Given the description of an element on the screen output the (x, y) to click on. 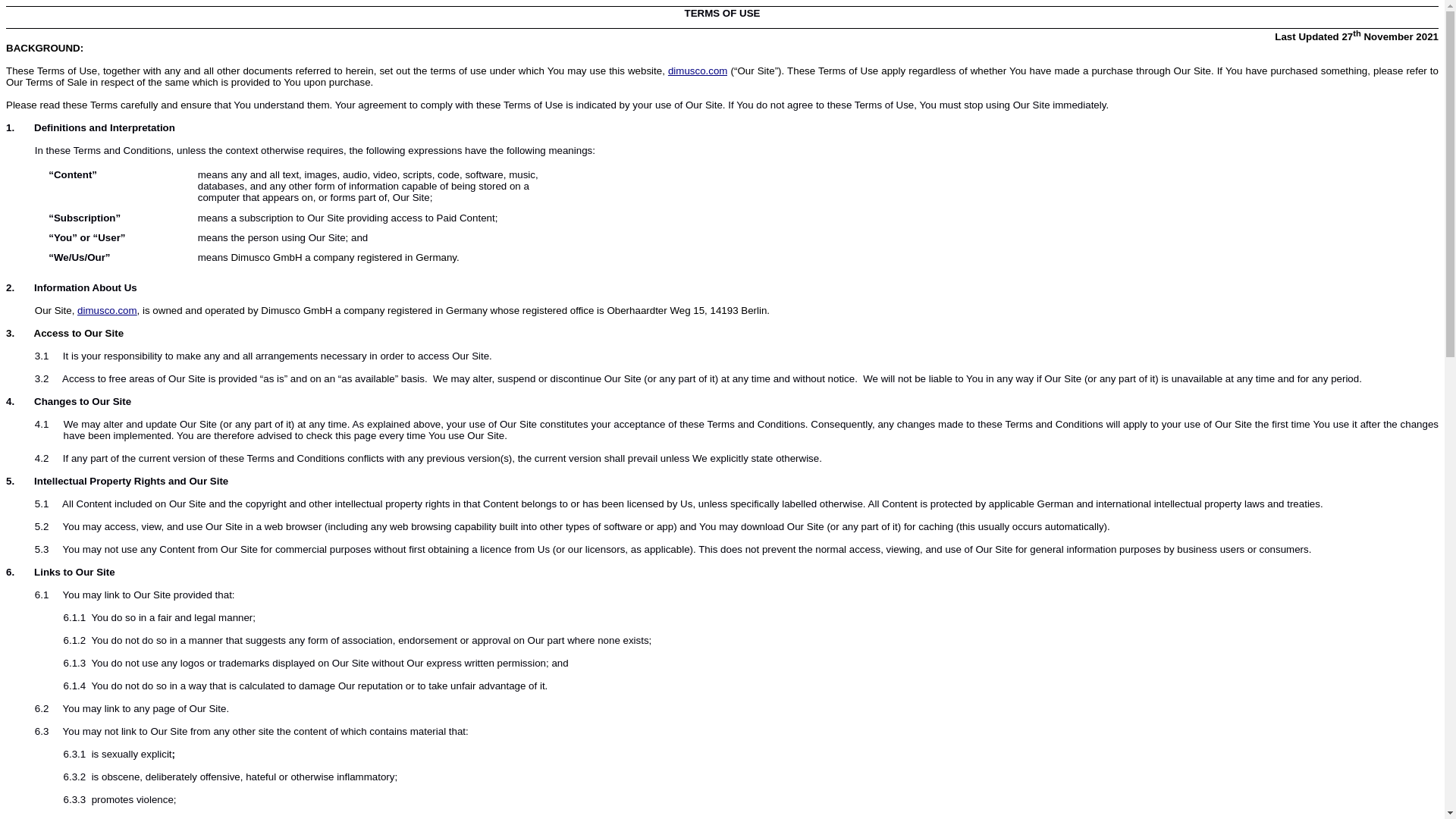
dimusco.com (106, 309)
dimusco.com (698, 70)
Last Updated (1307, 36)
